Given the description of an element on the screen output the (x, y) to click on. 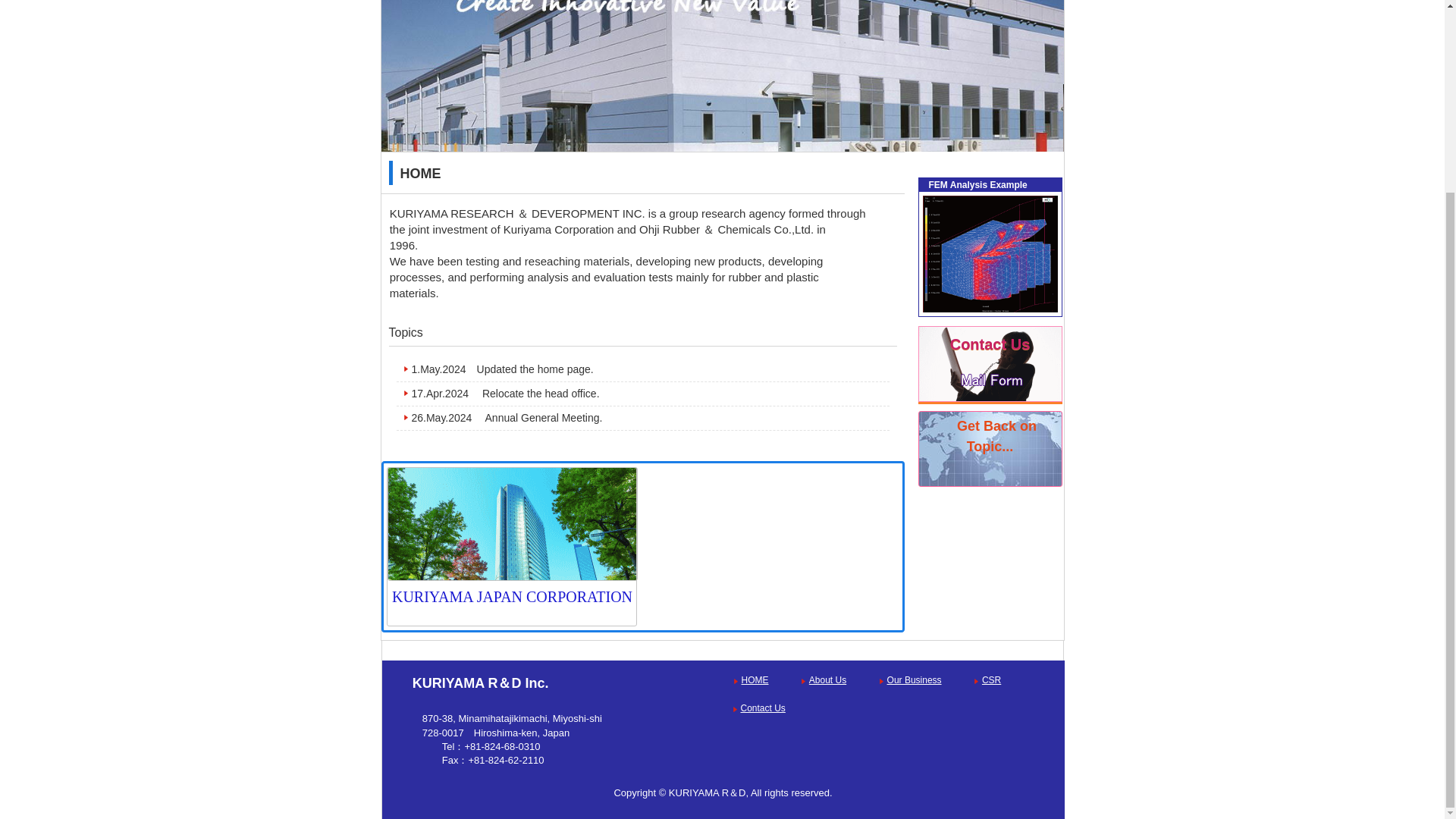
Contact Us (761, 707)
CSR (991, 679)
Contact Us (989, 363)
Get Back on Topic... (989, 448)
HOME (754, 679)
Our Business (914, 679)
About Us (827, 679)
